Given the description of an element on the screen output the (x, y) to click on. 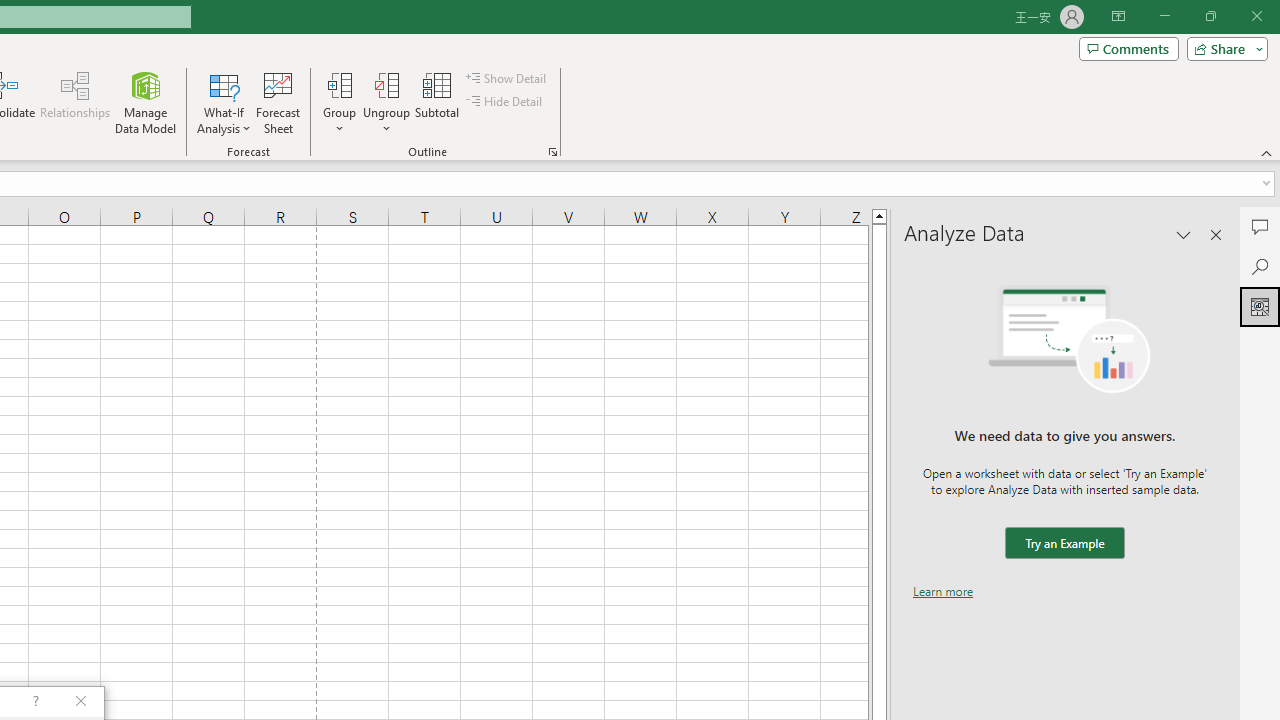
Hide Detail (505, 101)
Restore Down (1210, 16)
Group... (339, 102)
Relationships (75, 102)
We need data to give you answers. Try an Example (1064, 543)
Ungroup... (386, 102)
Subtotal (437, 102)
Manage Data Model (145, 102)
Show Detail (507, 78)
Group and Outline Settings (552, 151)
Ungroup... (386, 84)
